Given the description of an element on the screen output the (x, y) to click on. 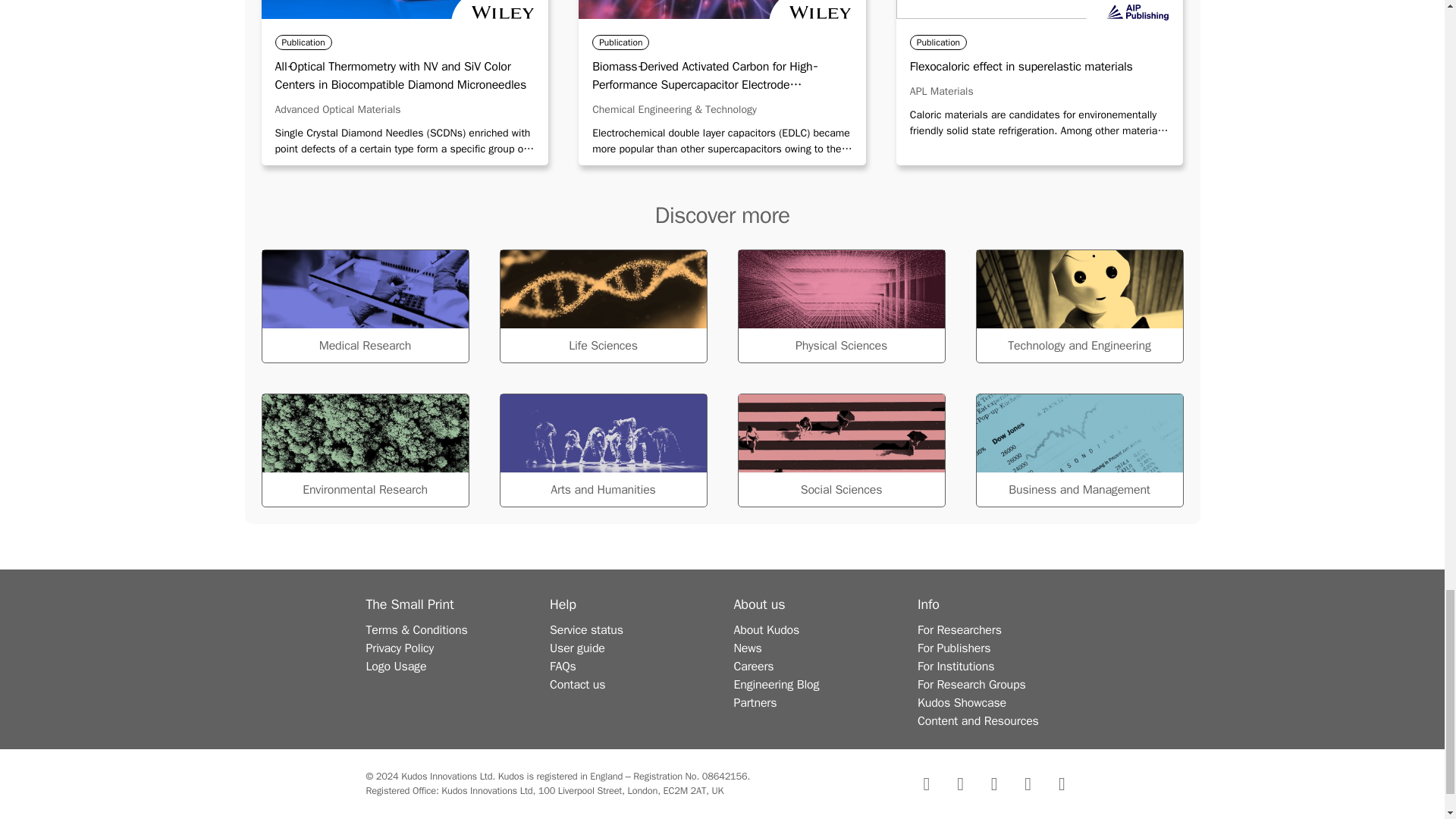
APL Materials (942, 91)
Social Sciences (840, 449)
Advanced Optical Materials (337, 109)
Life Sciences (602, 306)
Contact us (577, 684)
Business and Management (1078, 449)
FAQs (563, 666)
Logo Usage (395, 666)
Arts and Humanities (602, 449)
Environmental Research (364, 449)
Physical Sciences (840, 306)
About Kudos (766, 630)
Medical Research (364, 306)
Privacy Policy (399, 648)
